Given the description of an element on the screen output the (x, y) to click on. 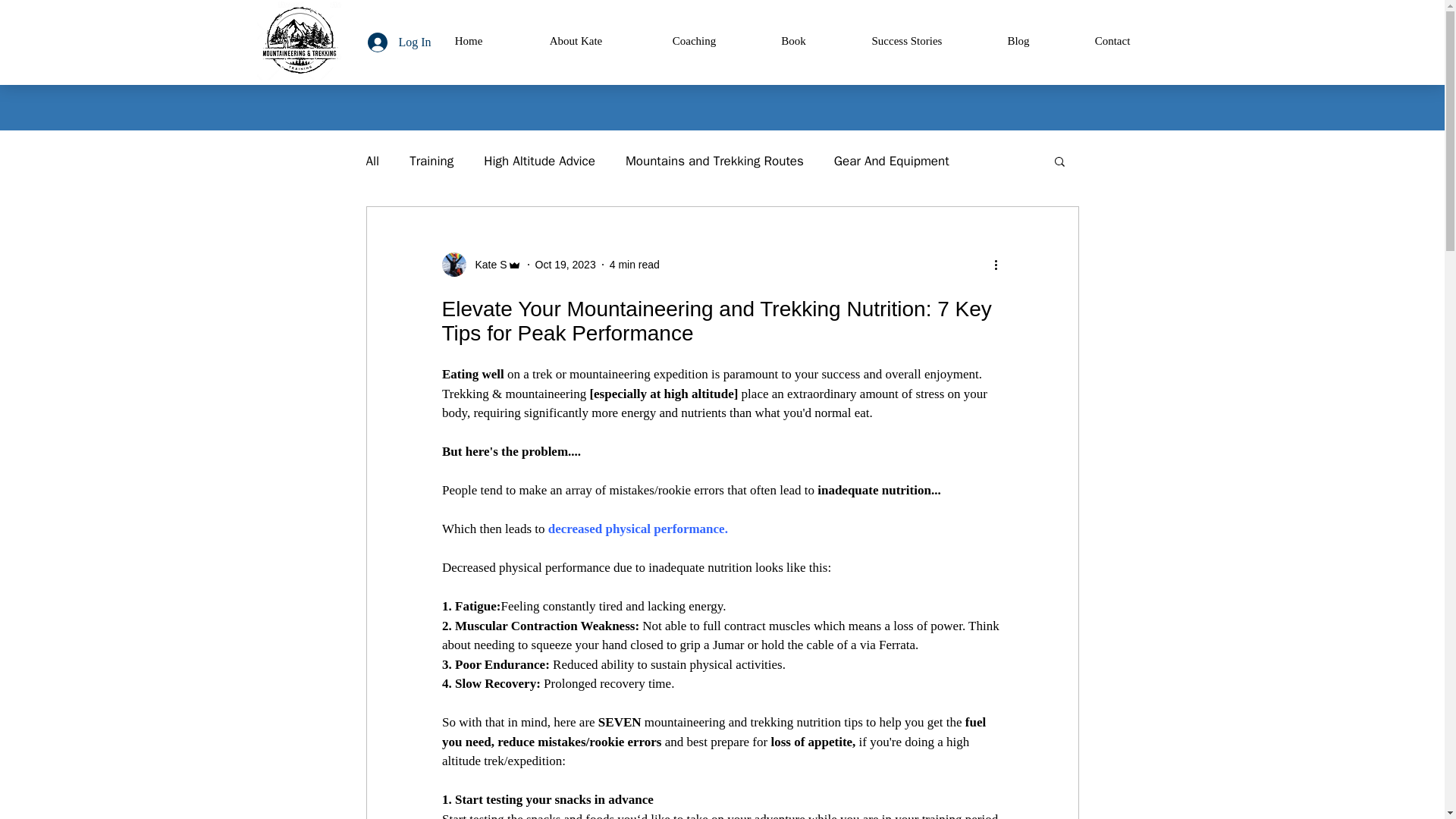
Kate S (481, 264)
Blog (1018, 40)
Home (469, 40)
Book (793, 40)
Kate S (485, 263)
Gear And Equipment (891, 159)
Mountains and Trekking Routes (714, 159)
About Kate (575, 40)
High Altitude Advice (539, 159)
4 min read (634, 263)
Log In (398, 42)
Coaching (694, 40)
Training (430, 159)
Success Stories (905, 40)
Contact (1112, 40)
